Given the description of an element on the screen output the (x, y) to click on. 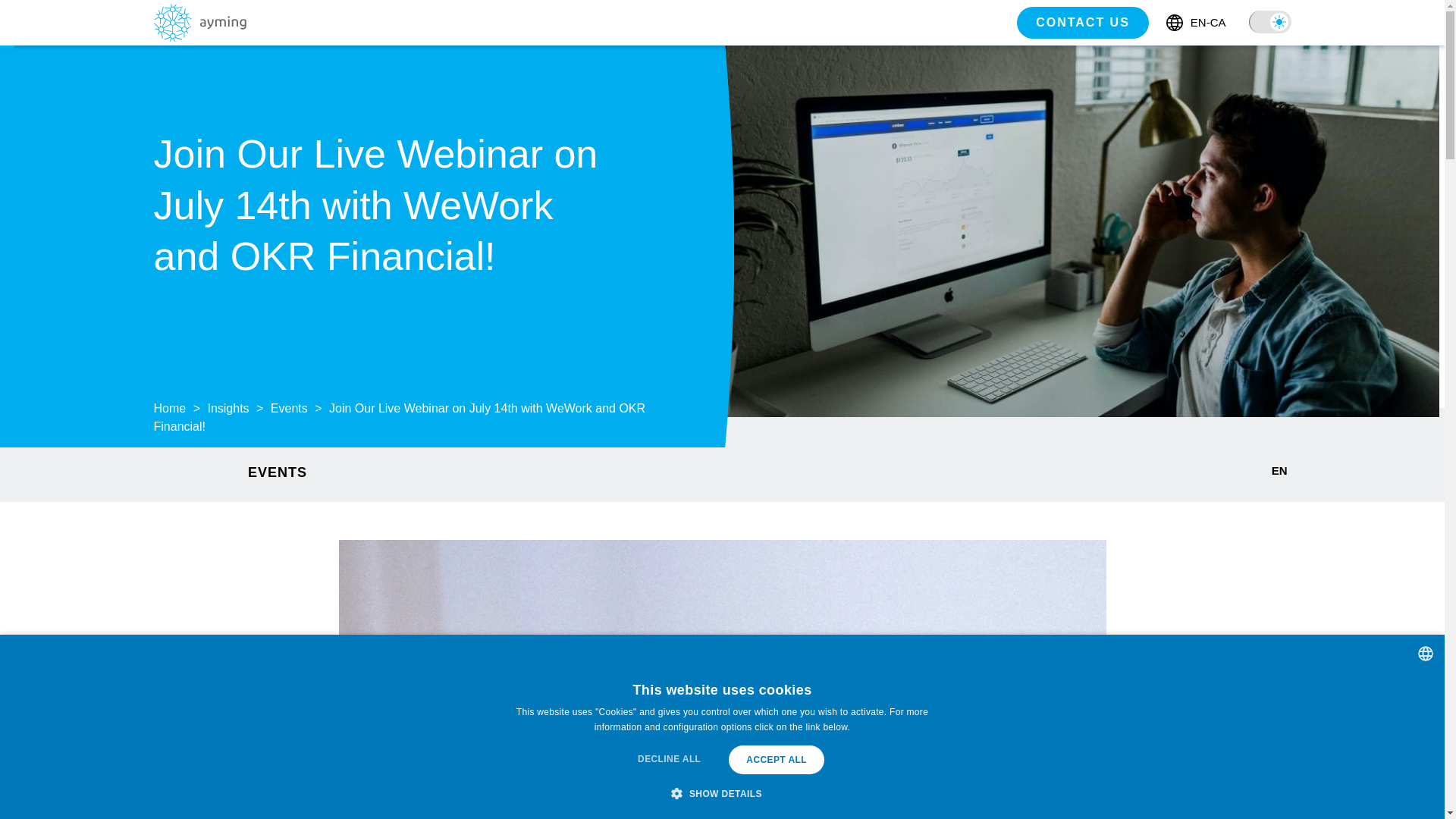
Go to Home. (169, 408)
Go to Insights. (227, 408)
CONTACT US (1082, 22)
Go to the Events category archives. (288, 408)
EN-CA (1195, 22)
Ayming Canada (199, 36)
